Given the description of an element on the screen output the (x, y) to click on. 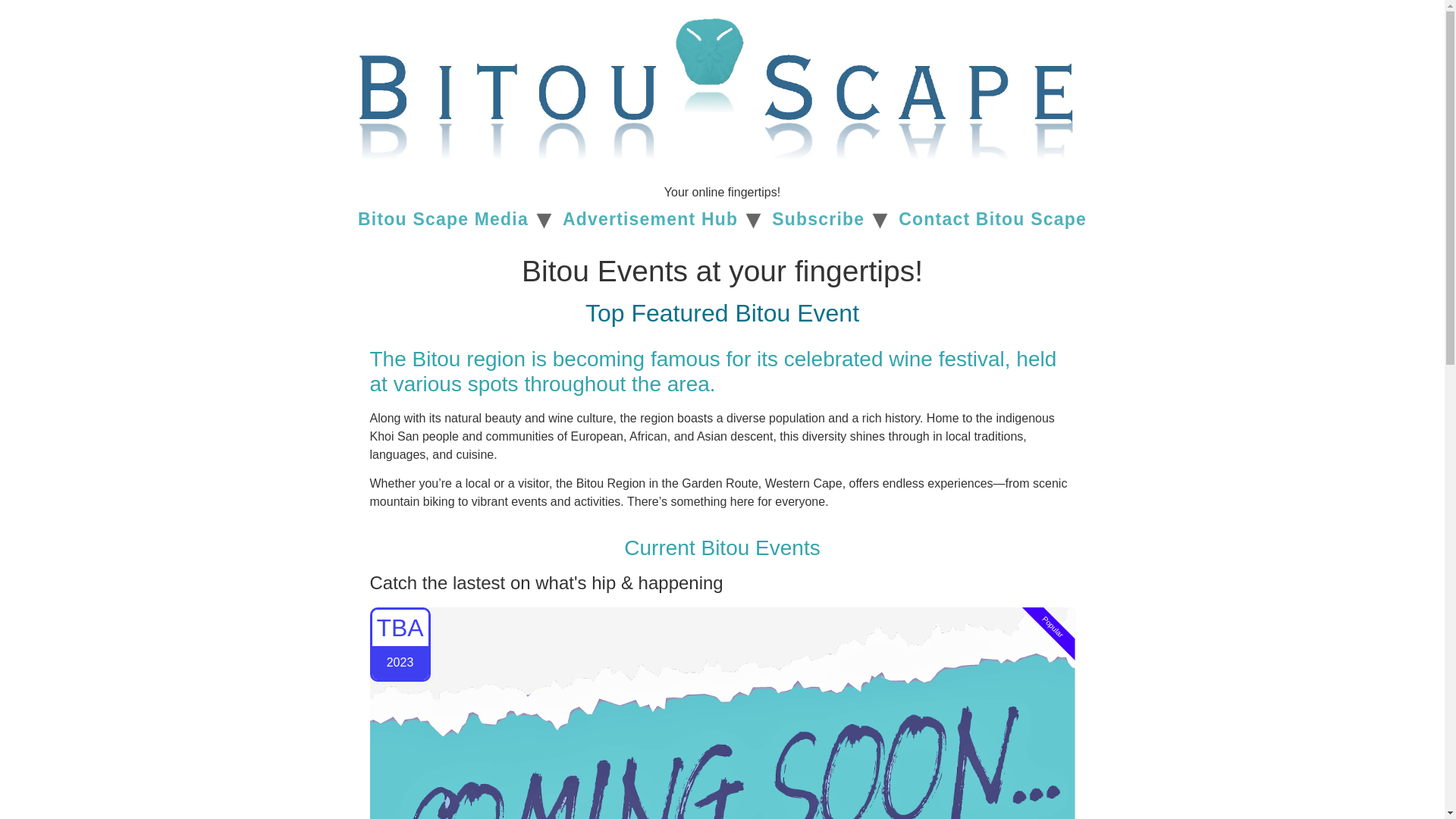
Contact Bitou Scape (991, 218)
Subscribe (818, 218)
Bitou Scape Media (443, 218)
Advertisement Hub (650, 218)
